Given the description of an element on the screen output the (x, y) to click on. 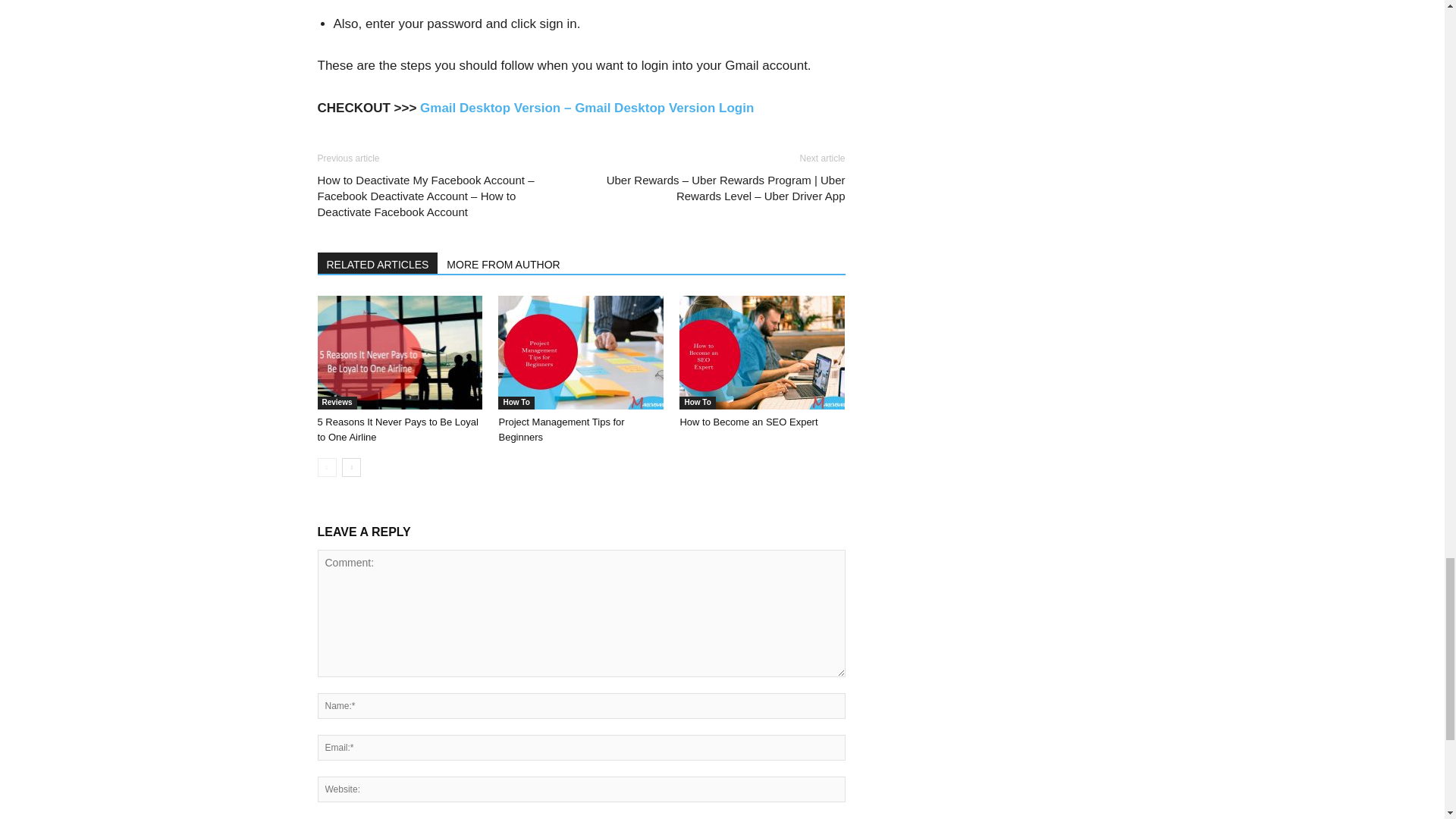
5 Reasons It Never Pays to Be Loyal to One Airline (399, 352)
Project Management Tips for Beginners (580, 352)
5 Reasons It Never Pays to Be Loyal to One Airline (397, 429)
